Given the description of an element on the screen output the (x, y) to click on. 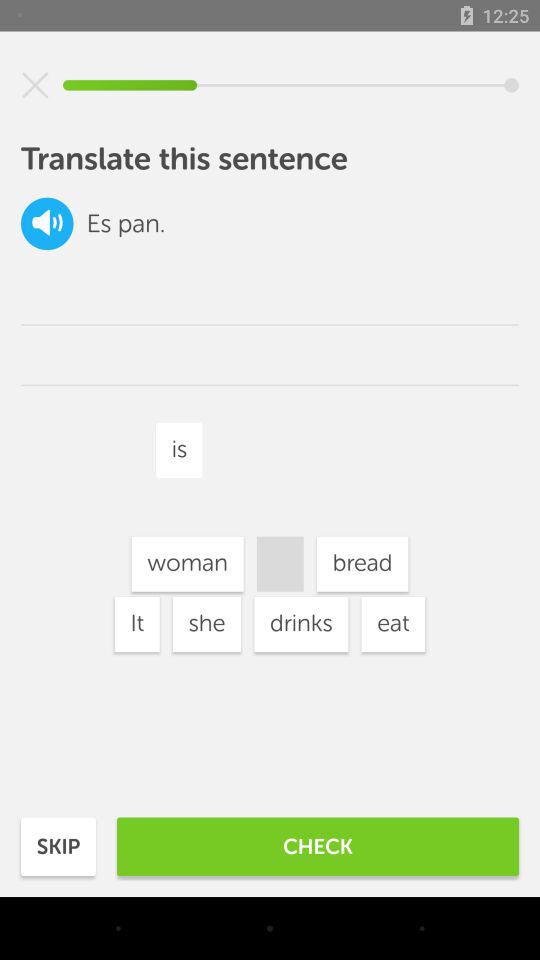
open the icon to the right of skip item (318, 846)
